Given the description of an element on the screen output the (x, y) to click on. 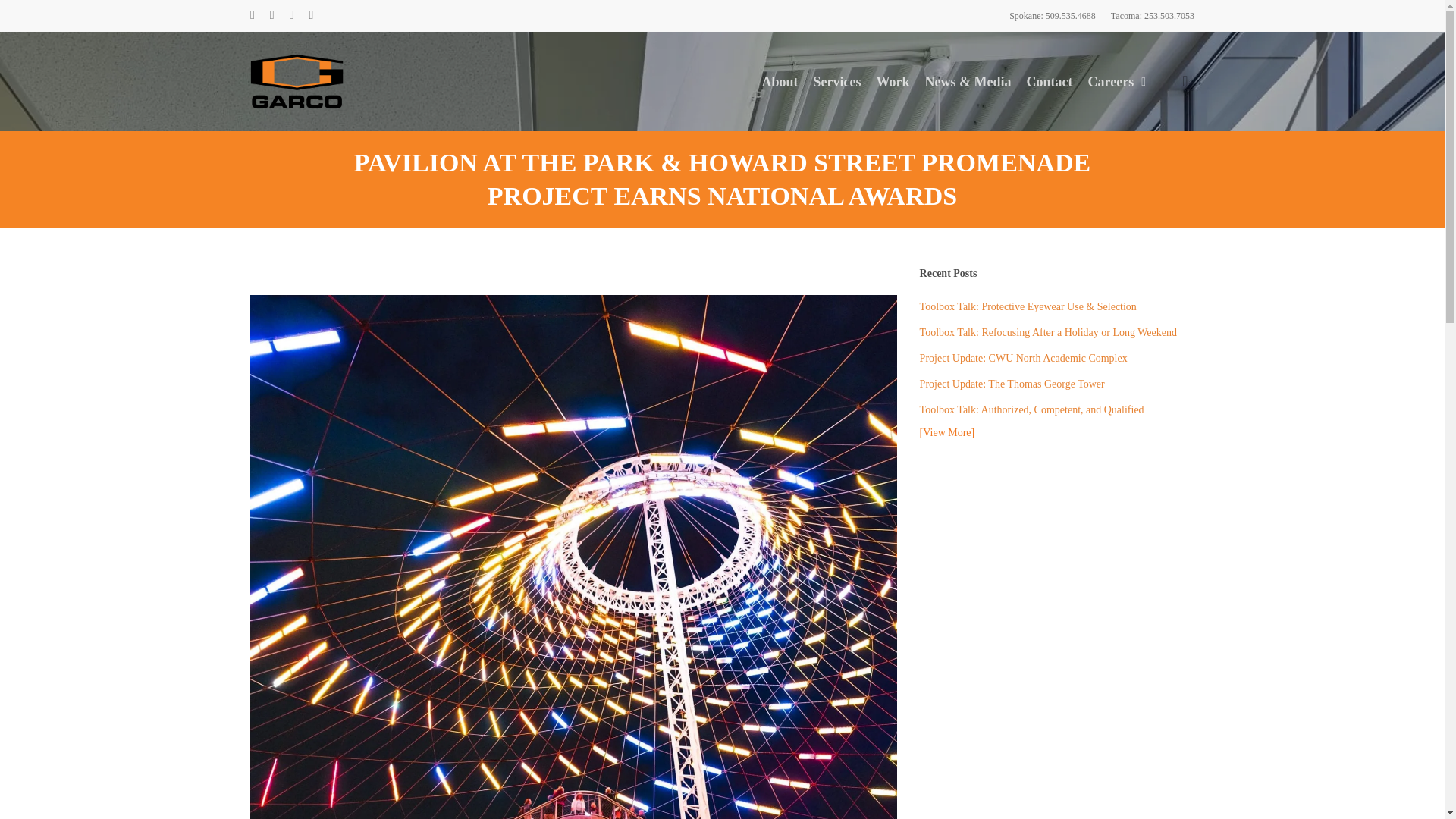
search (1184, 81)
Contact (1049, 80)
linkedin (272, 15)
Tacoma: 253.503.7053 (1151, 15)
Work (893, 80)
facebook (252, 15)
Careers (1116, 80)
External Link (1116, 80)
yelp (291, 15)
Services (837, 80)
email (311, 15)
Spokane: 509.535.4688 (1052, 15)
About (779, 80)
